Given the description of an element on the screen output the (x, y) to click on. 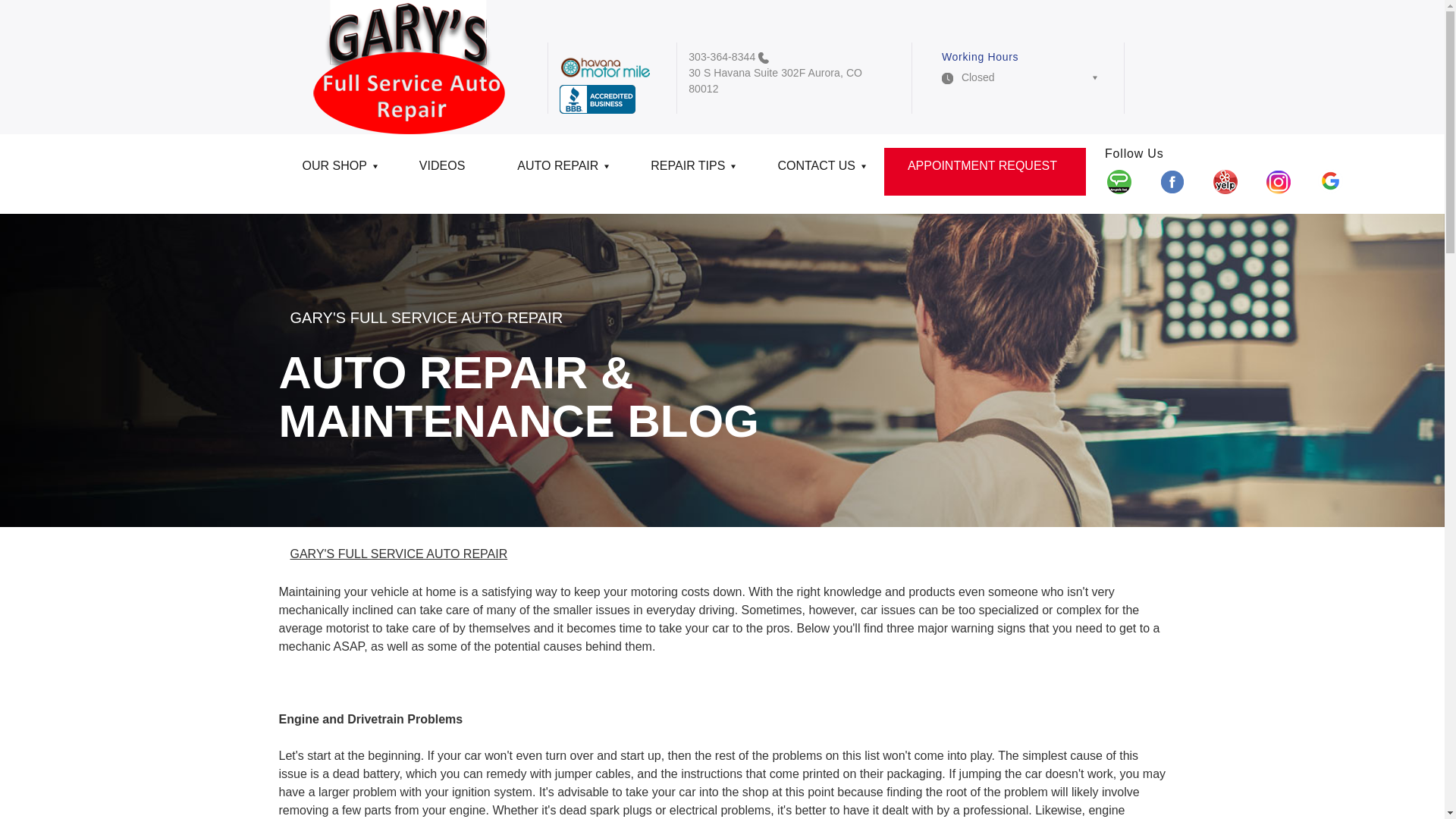
VIDEOS (444, 171)
303-364-8344 (721, 56)
OUR SHOP (337, 171)
AUTO REPAIR (560, 171)
REPAIR TIPS (690, 171)
Closed (1019, 81)
APPOINTMENT REQUEST (984, 171)
CONTACT US (818, 171)
